Given the description of an element on the screen output the (x, y) to click on. 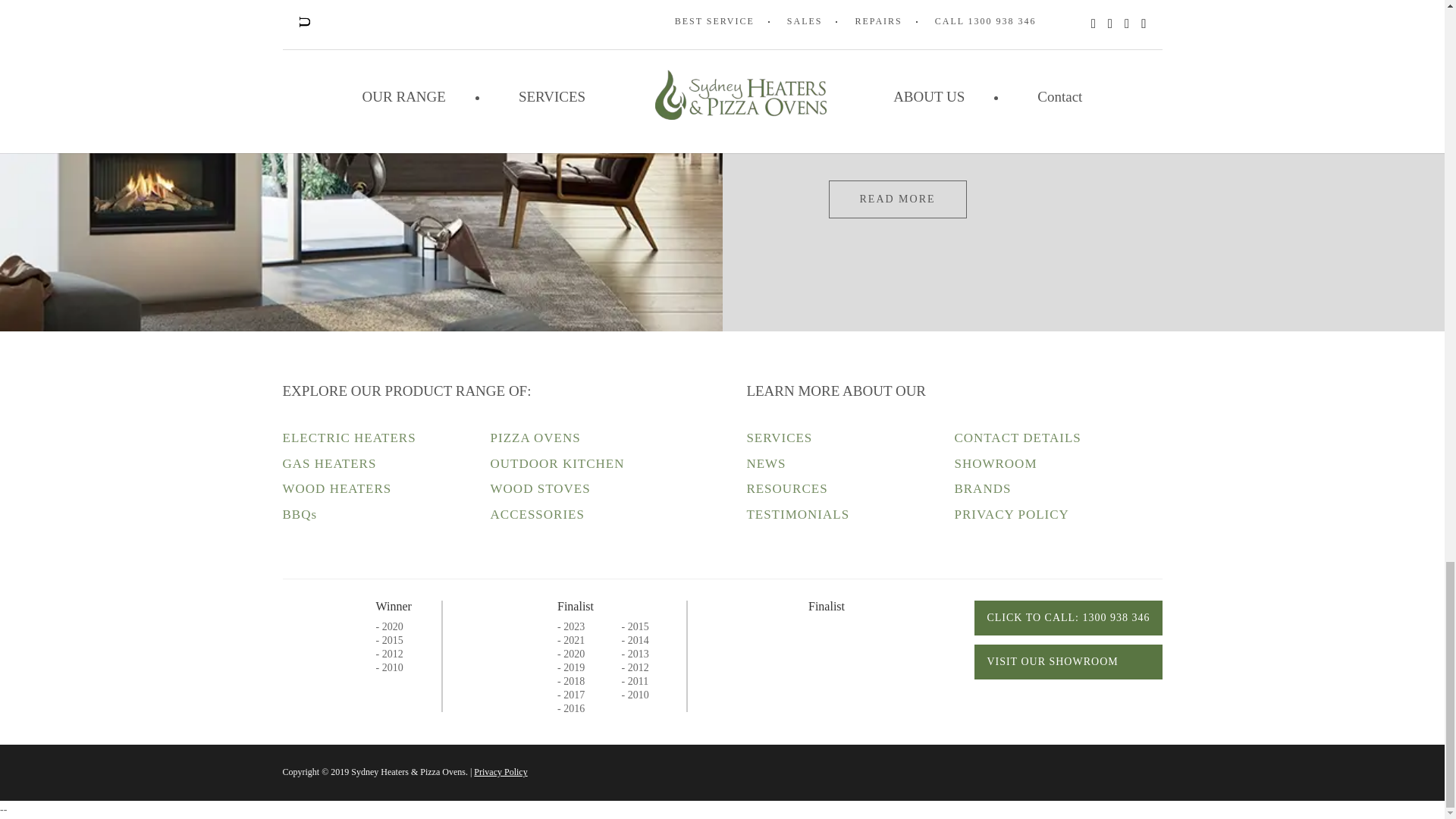
BBQs (299, 513)
PIZZA OVENS (535, 437)
WOOD HEATERS (336, 488)
READ MORE (897, 199)
ELECTRIC HEATERS (348, 437)
OUTDOOR KITCHEN (557, 463)
WOOD STOVES (540, 488)
ACCESSORIES (537, 513)
GAS HEATERS (328, 463)
